Given the description of an element on the screen output the (x, y) to click on. 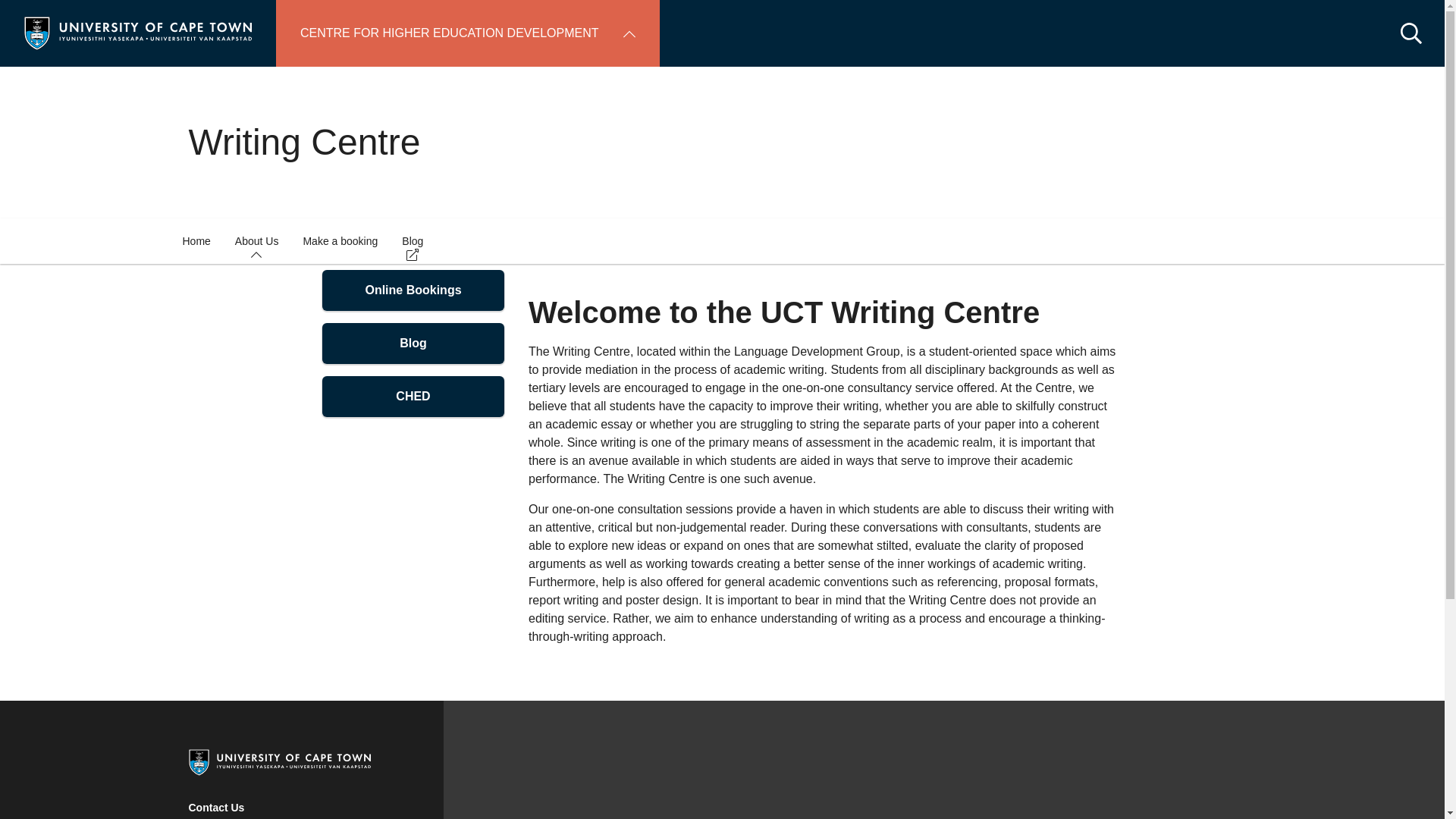
Blog (412, 342)
Home (196, 240)
CENTRE FOR HIGHER EDUCATION DEVELOPMENT (467, 33)
Online Bookings (412, 290)
About Us (256, 240)
Blog (412, 240)
Home (137, 31)
Make a booking (339, 240)
CHED (412, 395)
Submit (32, 15)
